Given the description of an element on the screen output the (x, y) to click on. 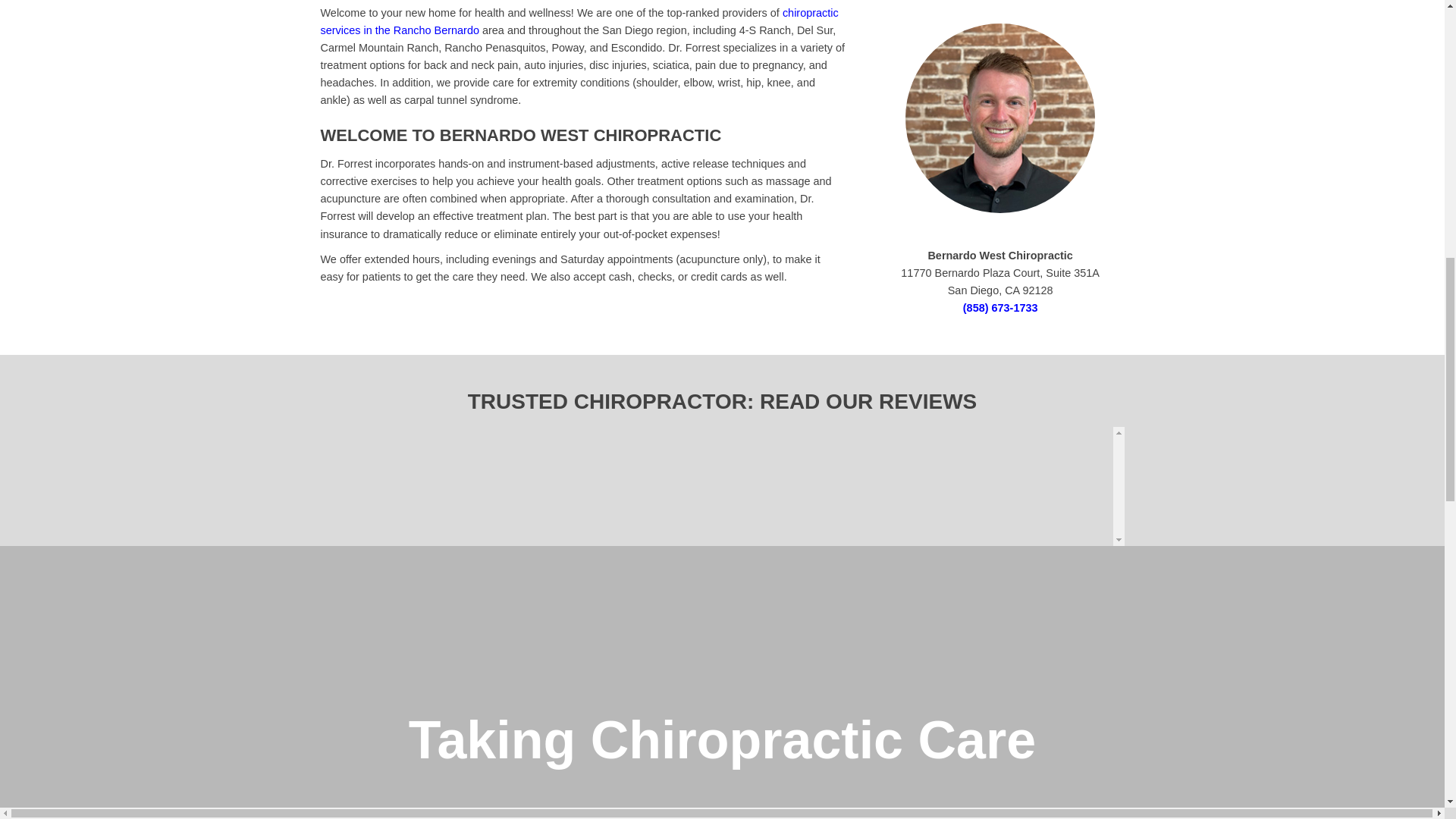
Bernardo West Chiropractic reviews (716, 483)
